Given the description of an element on the screen output the (x, y) to click on. 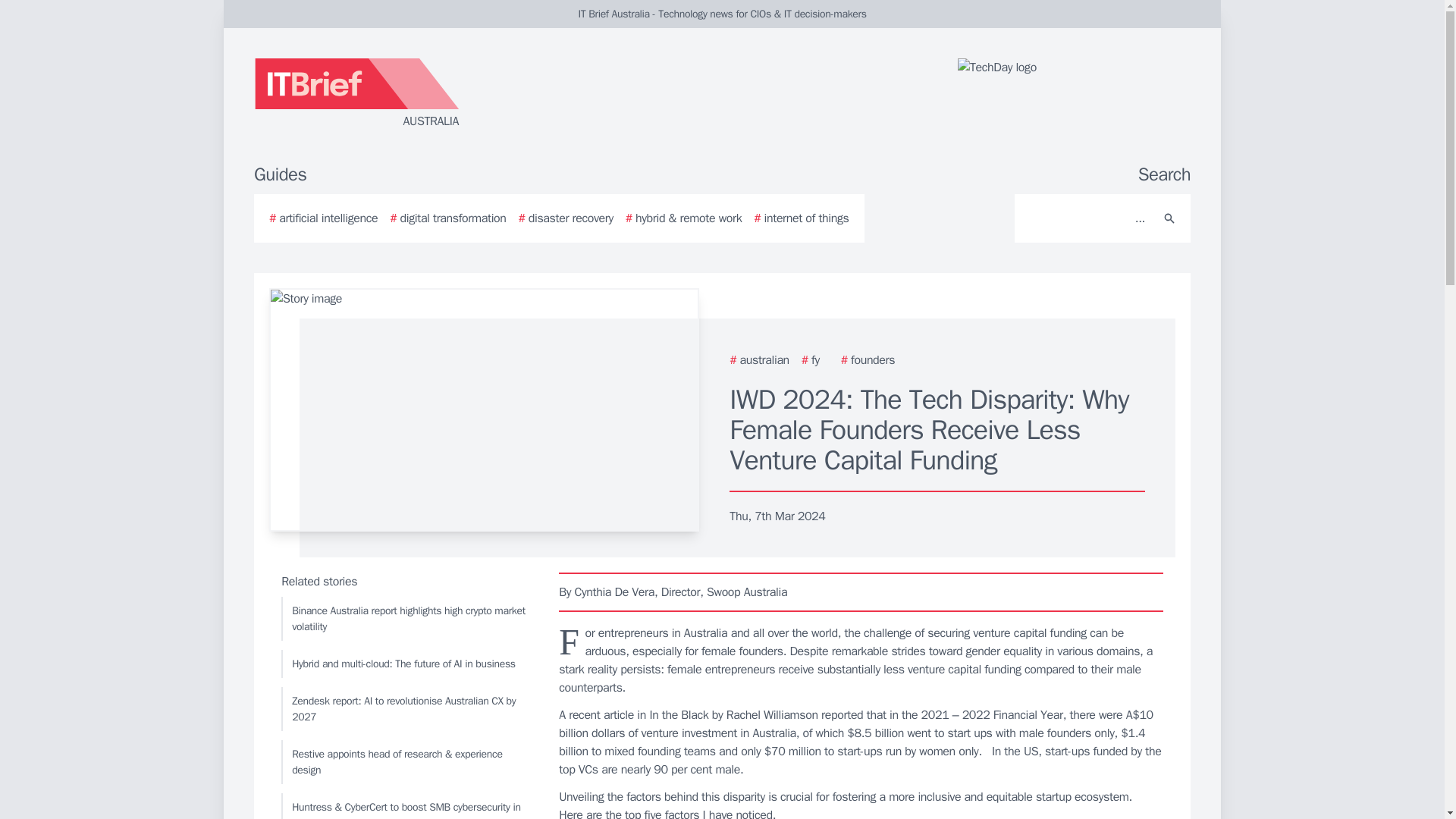
Hybrid and multi-cloud: The future of AI in business (406, 664)
AUSTRALIA (435, 94)
Zendesk report: AI to revolutionise Australian CX by 2027 (406, 709)
By Cynthia De Vera, Director, Swoop Australia (861, 592)
